Given the description of an element on the screen output the (x, y) to click on. 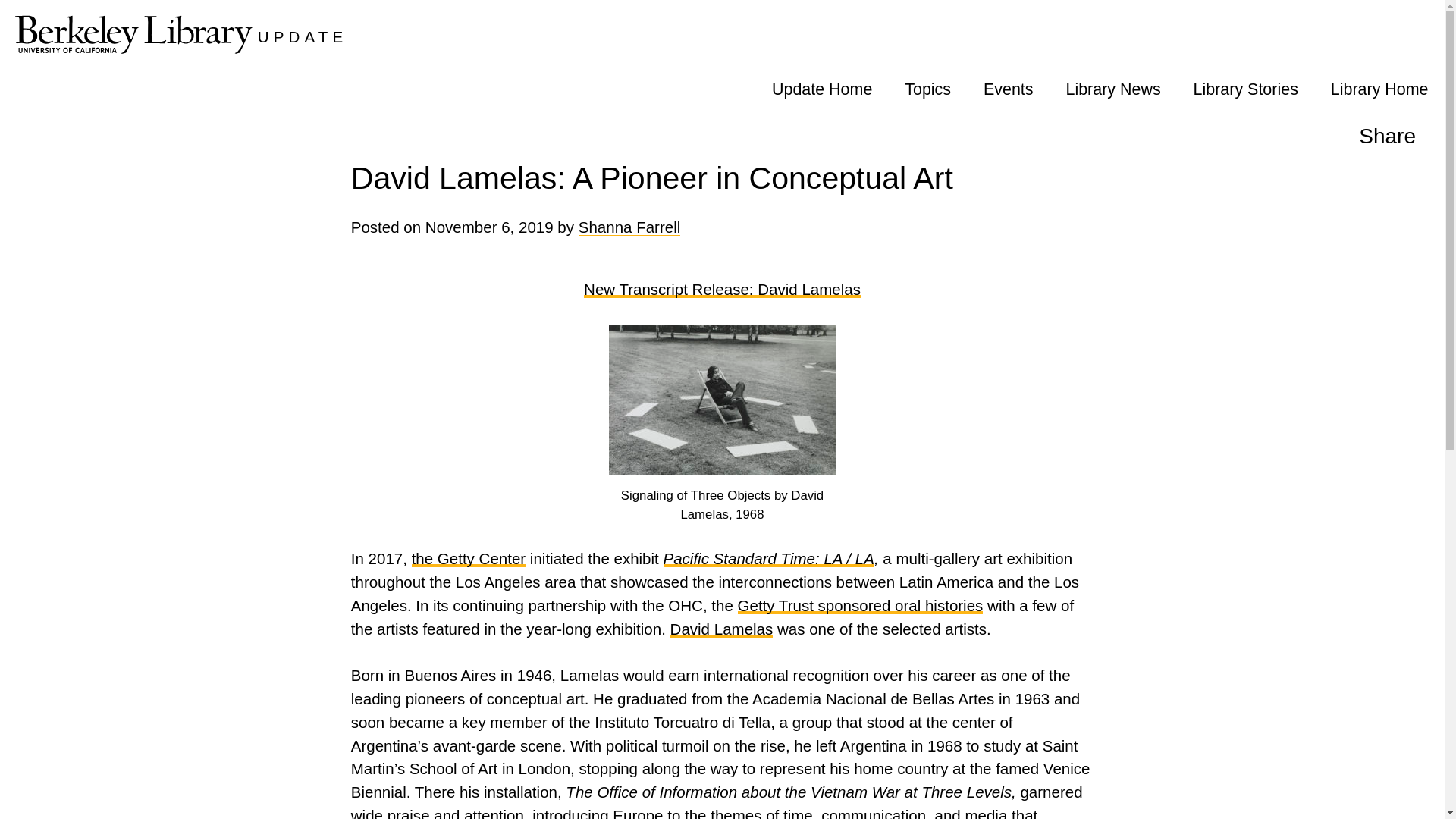
Getty Trust sponsored oral histories (861, 605)
Library Home (1378, 88)
Show and hide search (1432, 29)
Update Home (822, 88)
David Lamelas (721, 628)
Shanna Farrell (629, 226)
the Getty Center (468, 558)
Events (1007, 88)
Library News (1112, 88)
New Transcript Release: David Lamelas (721, 289)
UPDATE (302, 36)
Topics (927, 88)
Library Stories (1245, 88)
Share (1387, 134)
